Given the description of an element on the screen output the (x, y) to click on. 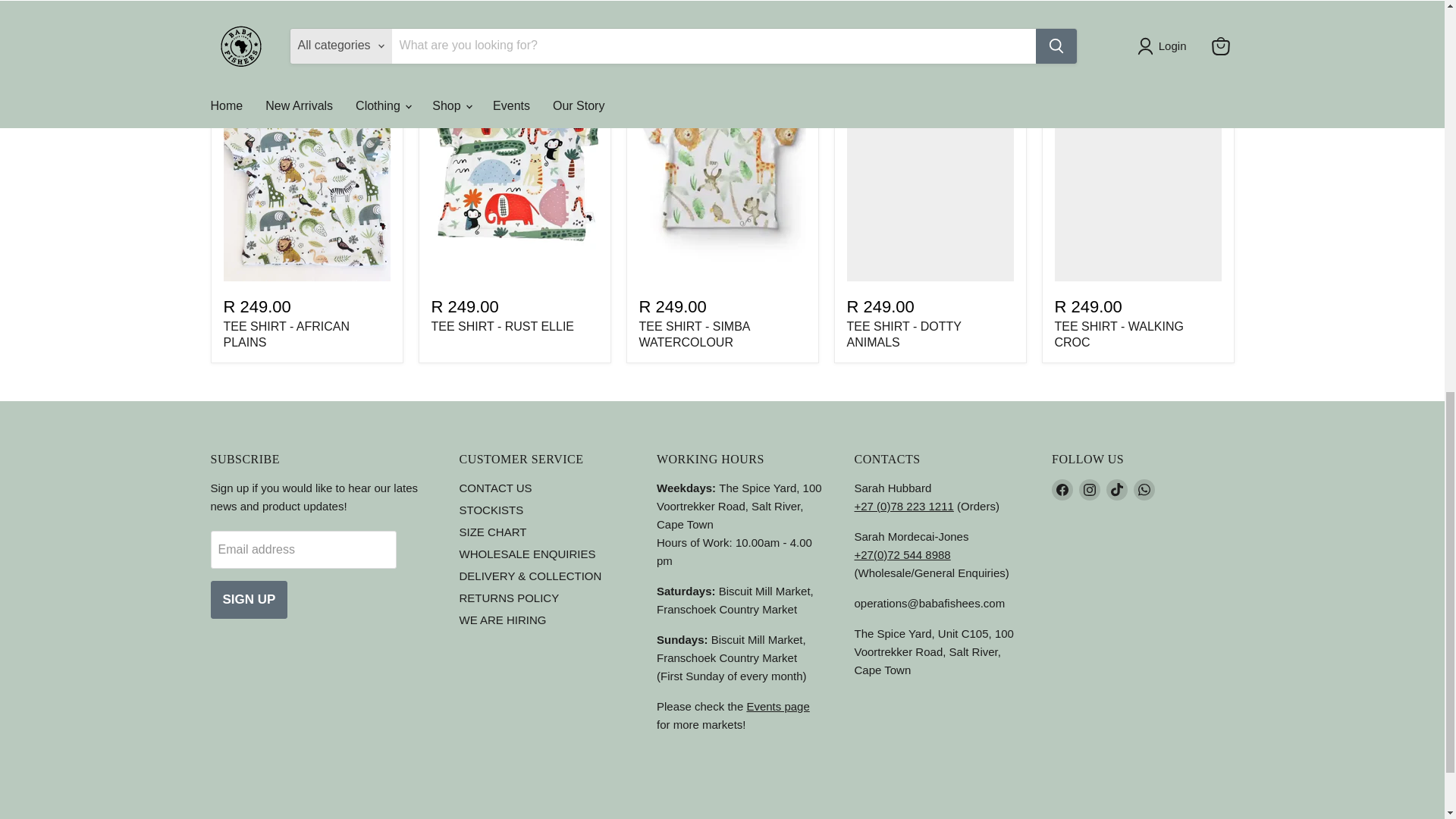
TikTok (1116, 489)
EVENTS CALENDAR (777, 706)
tel:0725448988 (901, 554)
tel:0782231211 (903, 505)
Instagram (1089, 489)
WhatsApp (1144, 489)
Facebook (1062, 489)
